Given the description of an element on the screen output the (x, y) to click on. 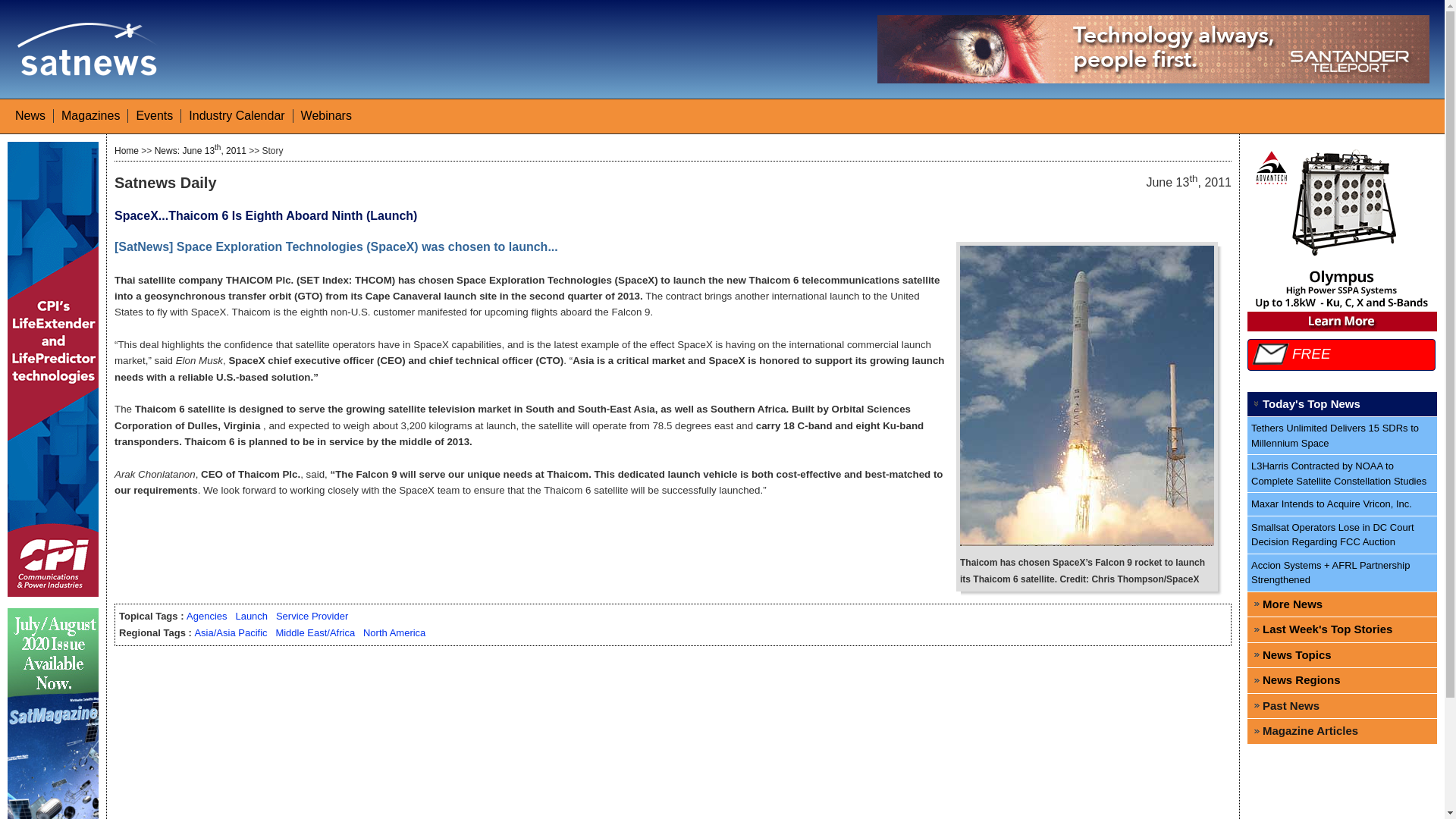
Maxar Intends to Acquire Vricon, Inc. (1342, 504)
North America (393, 632)
Service Provider (311, 615)
Webinars (326, 115)
Launch (250, 615)
Home (126, 150)
Agencies (206, 615)
Tethers Unlimited Delivers 15 SDRs to Millennium Space (1342, 435)
News: June 13th, 2011 (200, 150)
Magazines (90, 115)
News (29, 115)
Industry Calendar (236, 115)
Events (154, 115)
